Given the description of an element on the screen output the (x, y) to click on. 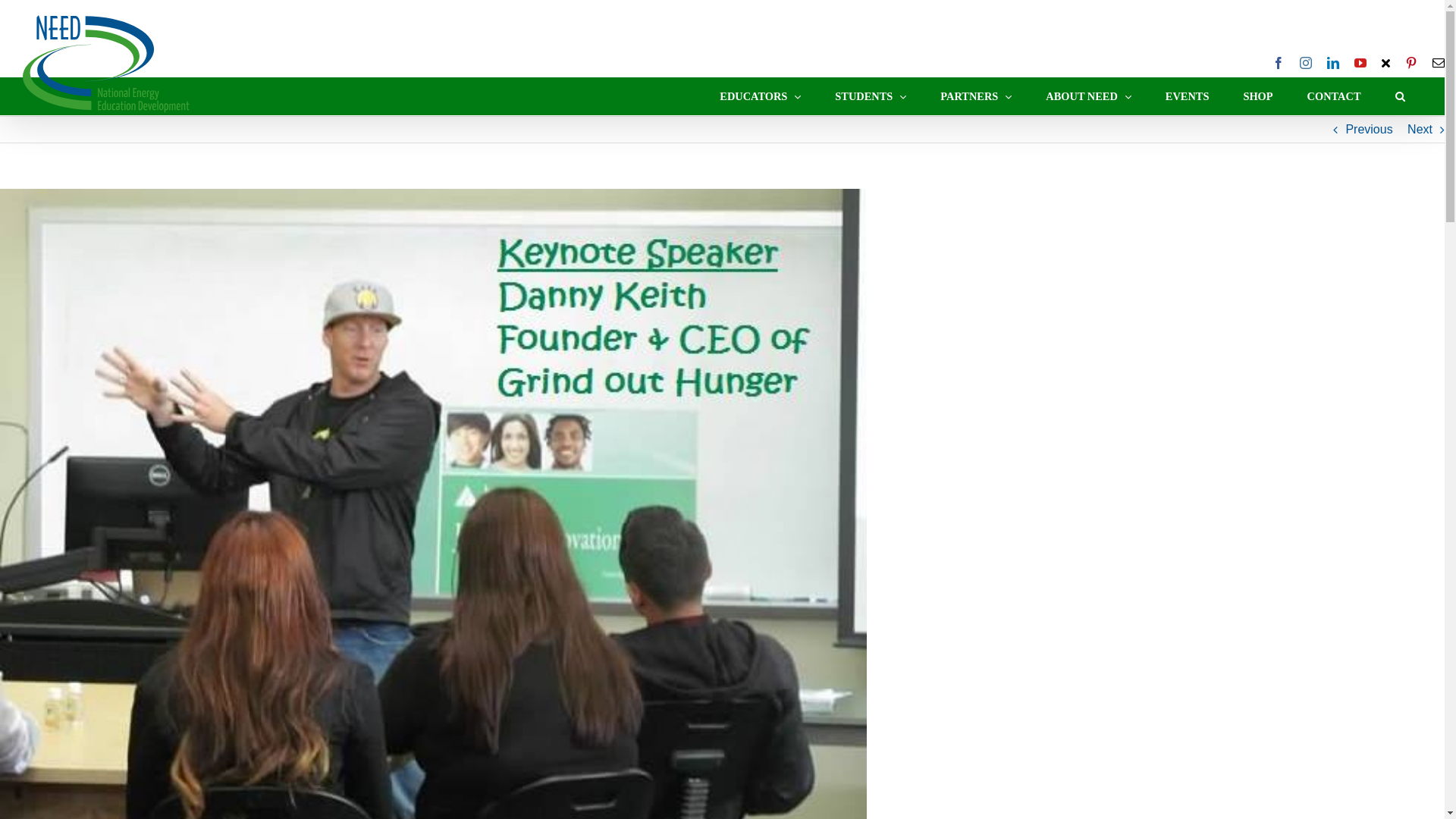
Search (1399, 95)
Contact NEED (1333, 95)
YouTube (1360, 62)
LinkedIn (1332, 62)
Pinterest (1410, 62)
YouTube (1360, 62)
Pinterest (1410, 62)
Shop NEED Curriculum (1257, 95)
PARTNERS (976, 95)
LinkedIn (1332, 62)
ABOUT NEED (1088, 95)
STUDENTS (870, 95)
Instagram (1305, 62)
Twitter (1385, 62)
Facebook (1278, 62)
